Given the description of an element on the screen output the (x, y) to click on. 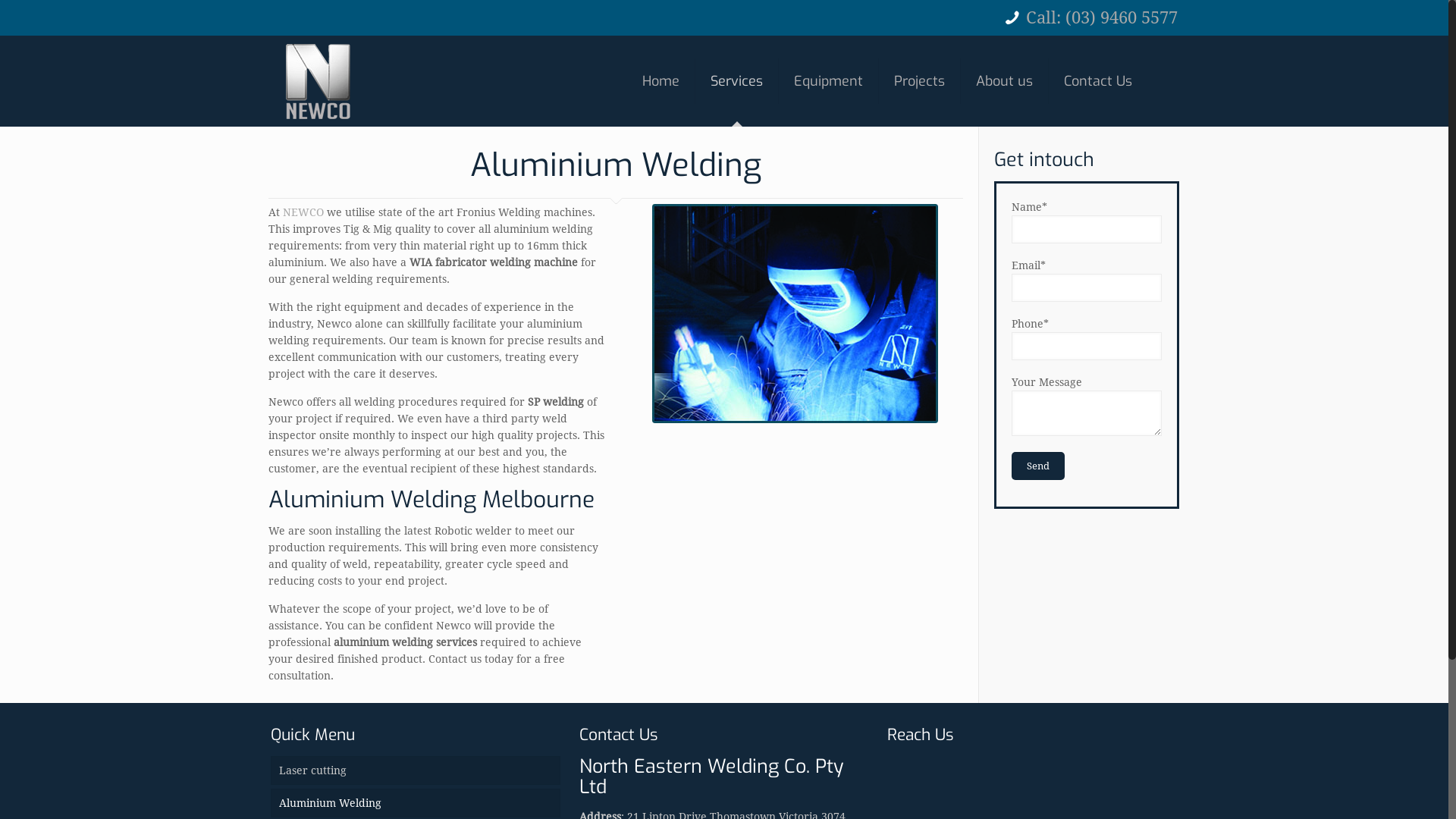
Services Element type: text (736, 80)
Equipment Element type: text (828, 80)
Call: (03) 9460 5577 Element type: text (1101, 17)
About us Element type: text (1004, 80)
NEWCO Element type: text (302, 212)
Home Element type: text (661, 80)
NEWCO Element type: hover (317, 80)
Contact Us Element type: text (1097, 80)
Laser cutting Element type: text (415, 770)
Send Element type: text (1037, 465)
Projects Element type: text (919, 80)
Aluminium Welding Element type: text (415, 802)
